Given the description of an element on the screen output the (x, y) to click on. 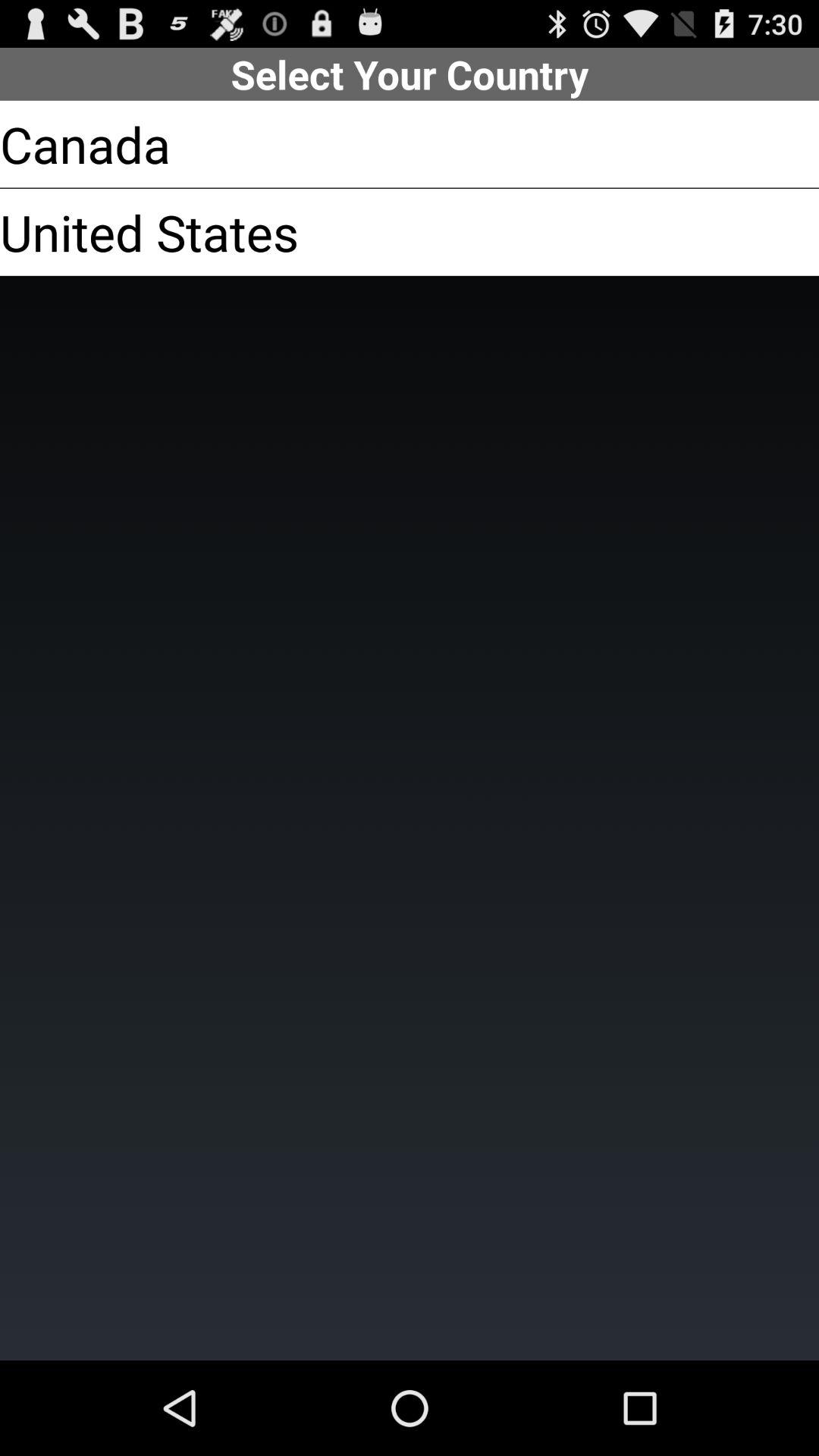
swipe until canada item (85, 143)
